Given the description of an element on the screen output the (x, y) to click on. 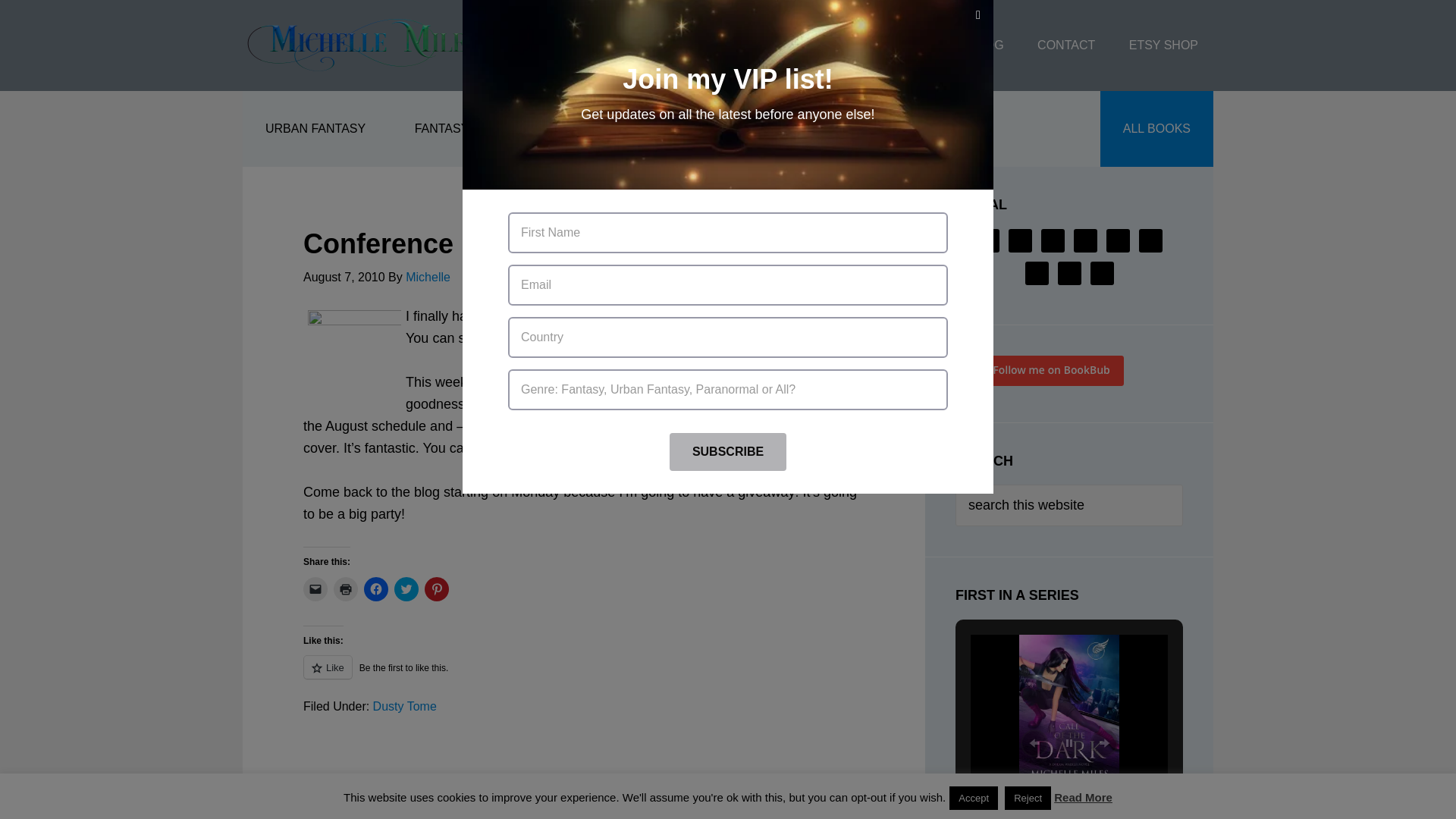
URBAN FANTASY (315, 128)
Dusty Tome (404, 706)
Click to share on Pinterest (436, 589)
ALL BOOKS (1156, 128)
Click to share on Facebook (376, 589)
YOUNG ADULT (759, 128)
here (531, 337)
Like or Reblog (583, 675)
ETSY SHOP (1162, 45)
Michelle Miles Author (363, 45)
CONTACT (1065, 45)
Click to email a link to a friend (314, 589)
